Given the description of an element on the screen output the (x, y) to click on. 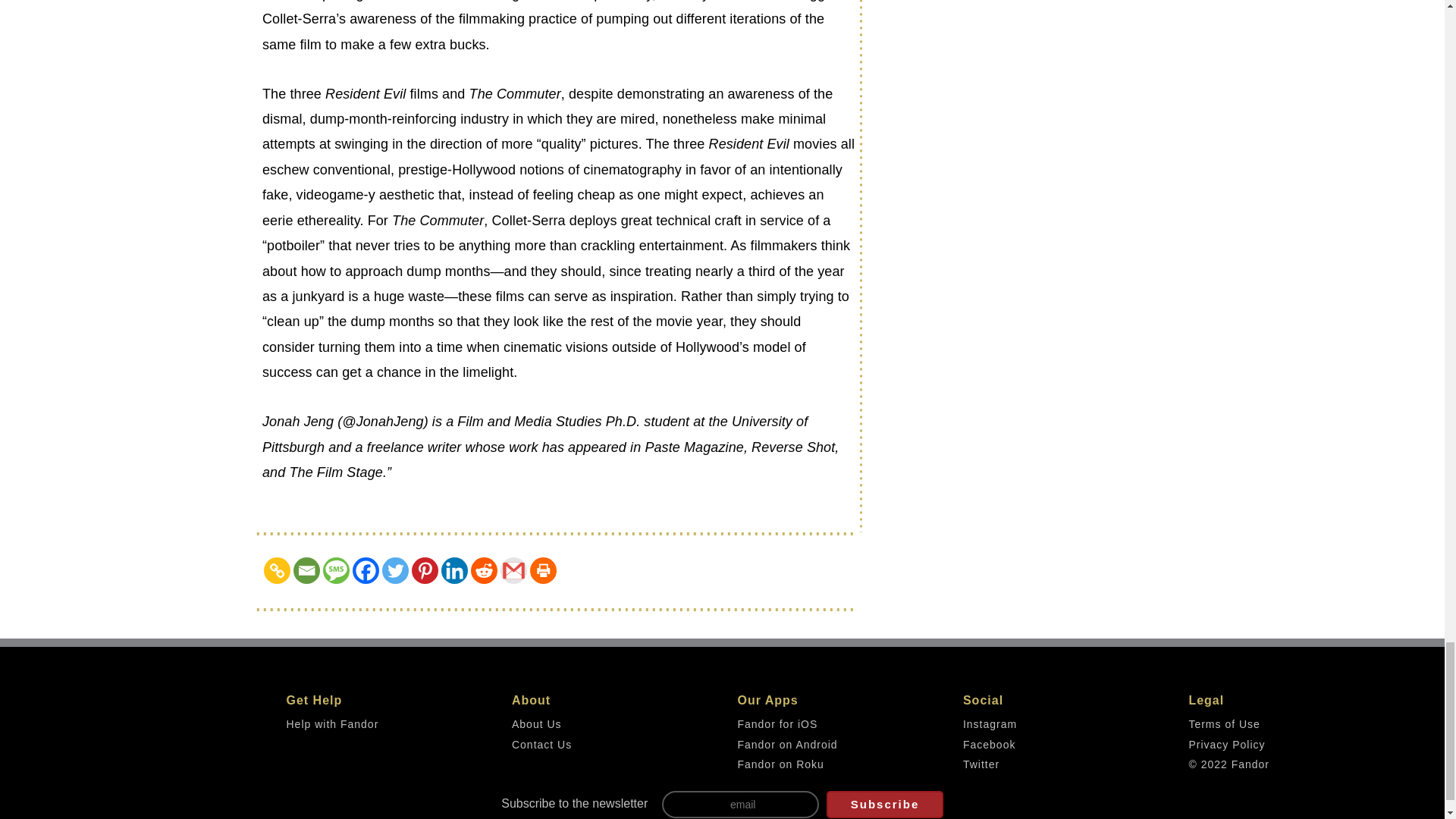
Email (307, 570)
Linkedin (454, 570)
Twitter (395, 570)
Print (542, 570)
Facebook (365, 570)
Google Gmail (513, 570)
SMS (336, 570)
Pinterest (425, 570)
Reddit (483, 570)
Copy Link (276, 570)
